Given the description of an element on the screen output the (x, y) to click on. 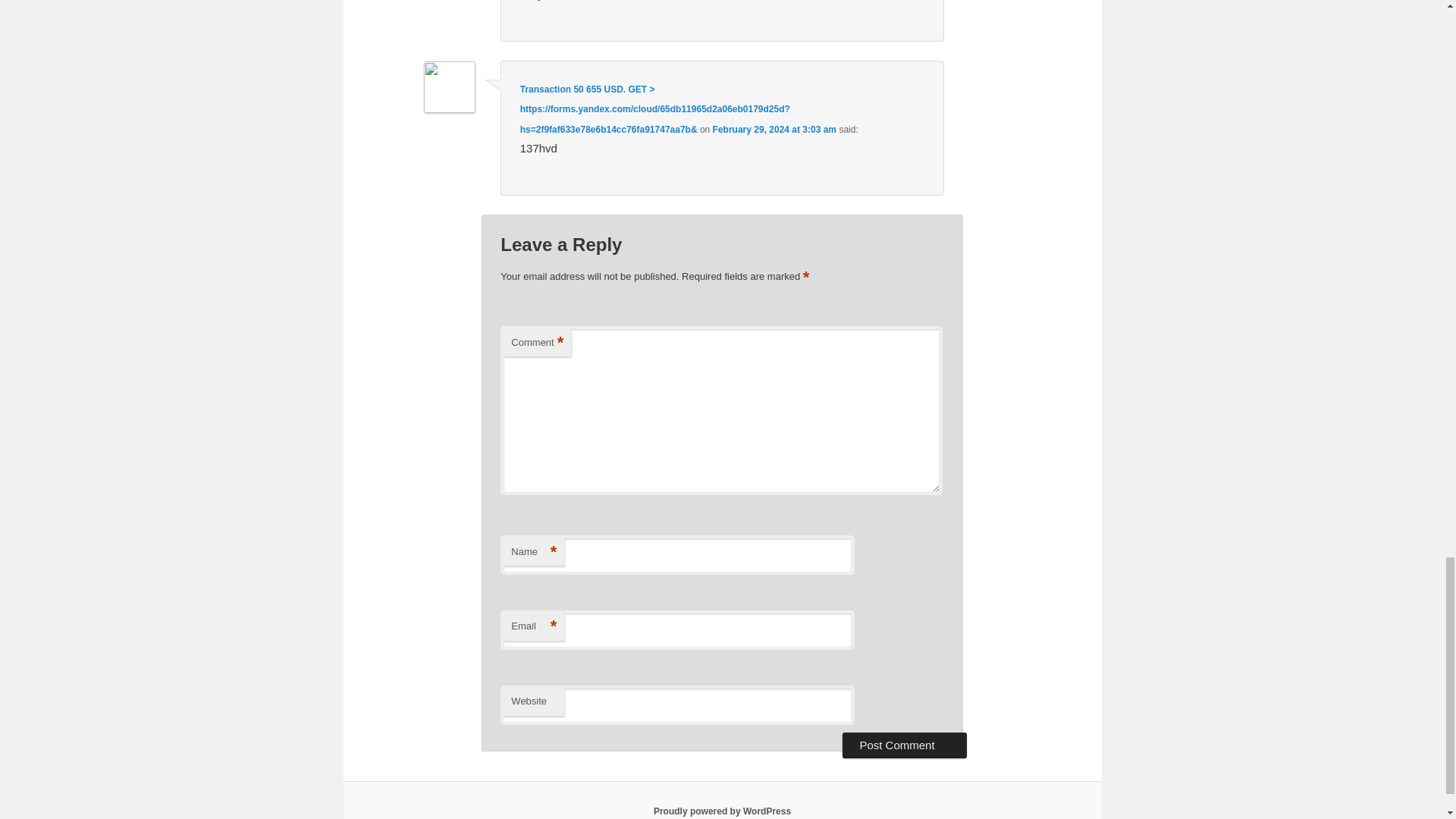
Semantic Personal Publishing Platform (721, 810)
Post Comment (904, 745)
